Given the description of an element on the screen output the (x, y) to click on. 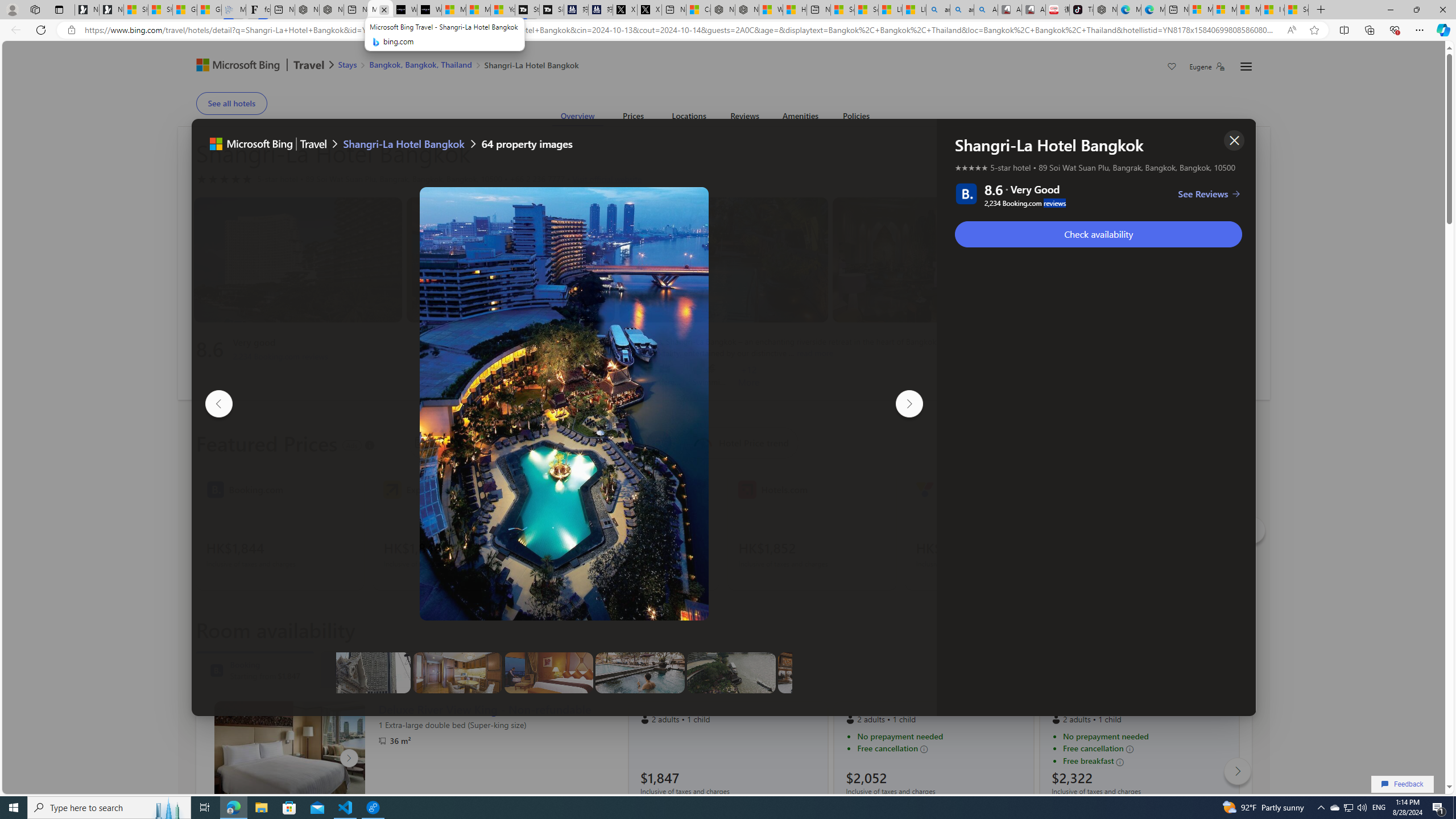
TikTok (1080, 9)
Nordace - Best Sellers (1105, 9)
